Given the description of an element on the screen output the (x, y) to click on. 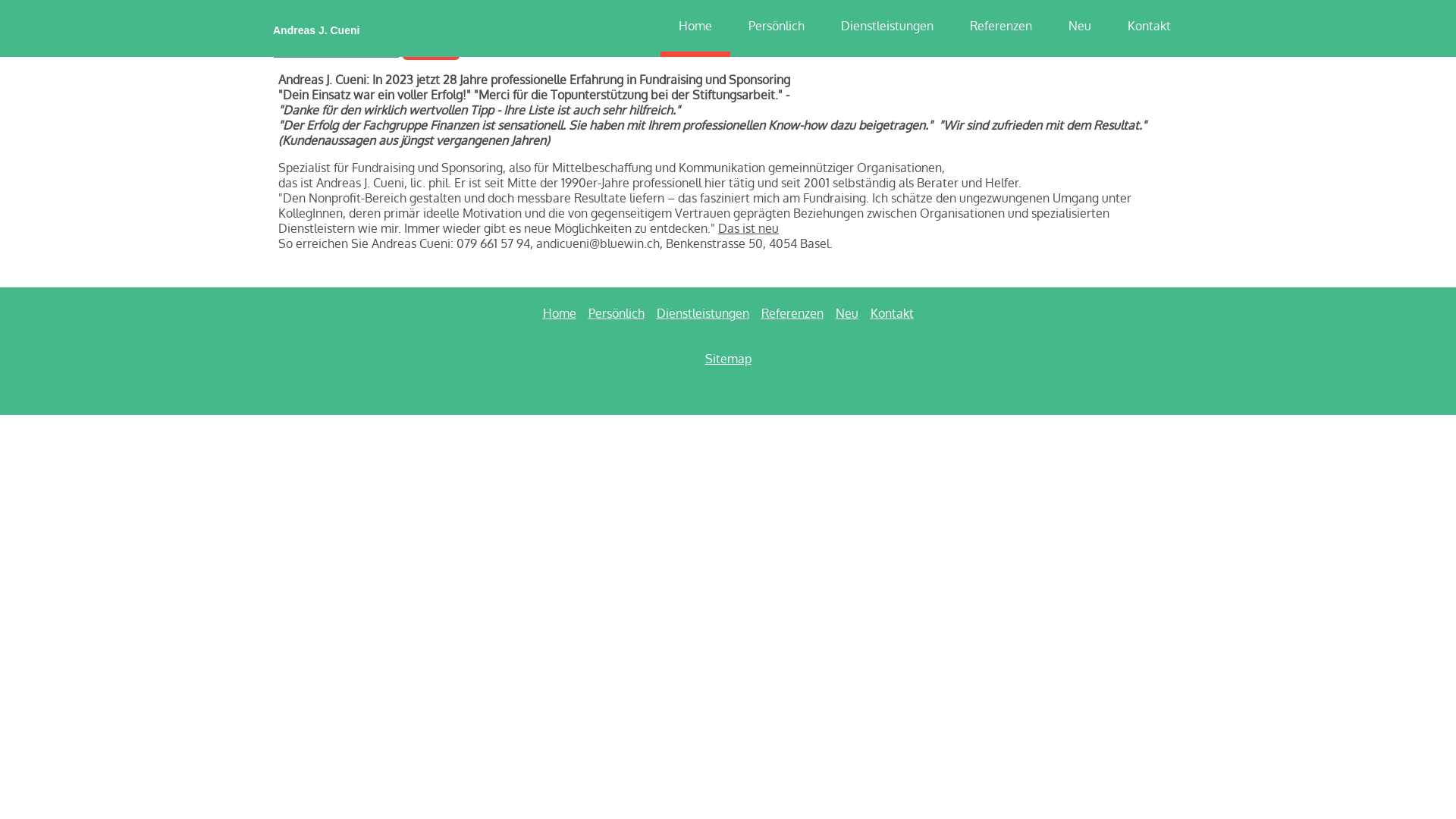
Referenzen Element type: text (1000, 25)
Das ist neu Element type: text (748, 227)
Los! Element type: text (430, 47)
Home Element type: text (559, 312)
Kontakt Element type: text (1149, 25)
Neu Element type: text (846, 312)
Dienstleistungen Element type: text (886, 25)
Sitemap Element type: text (728, 358)
Kontakt Element type: text (891, 312)
Home Element type: text (695, 25)
Dienstleistungen Element type: text (702, 312)
Referenzen Element type: text (792, 312)
Neu Element type: text (1079, 25)
Andreas J. Cueni Element type: text (341, 24)
